Given the description of an element on the screen output the (x, y) to click on. 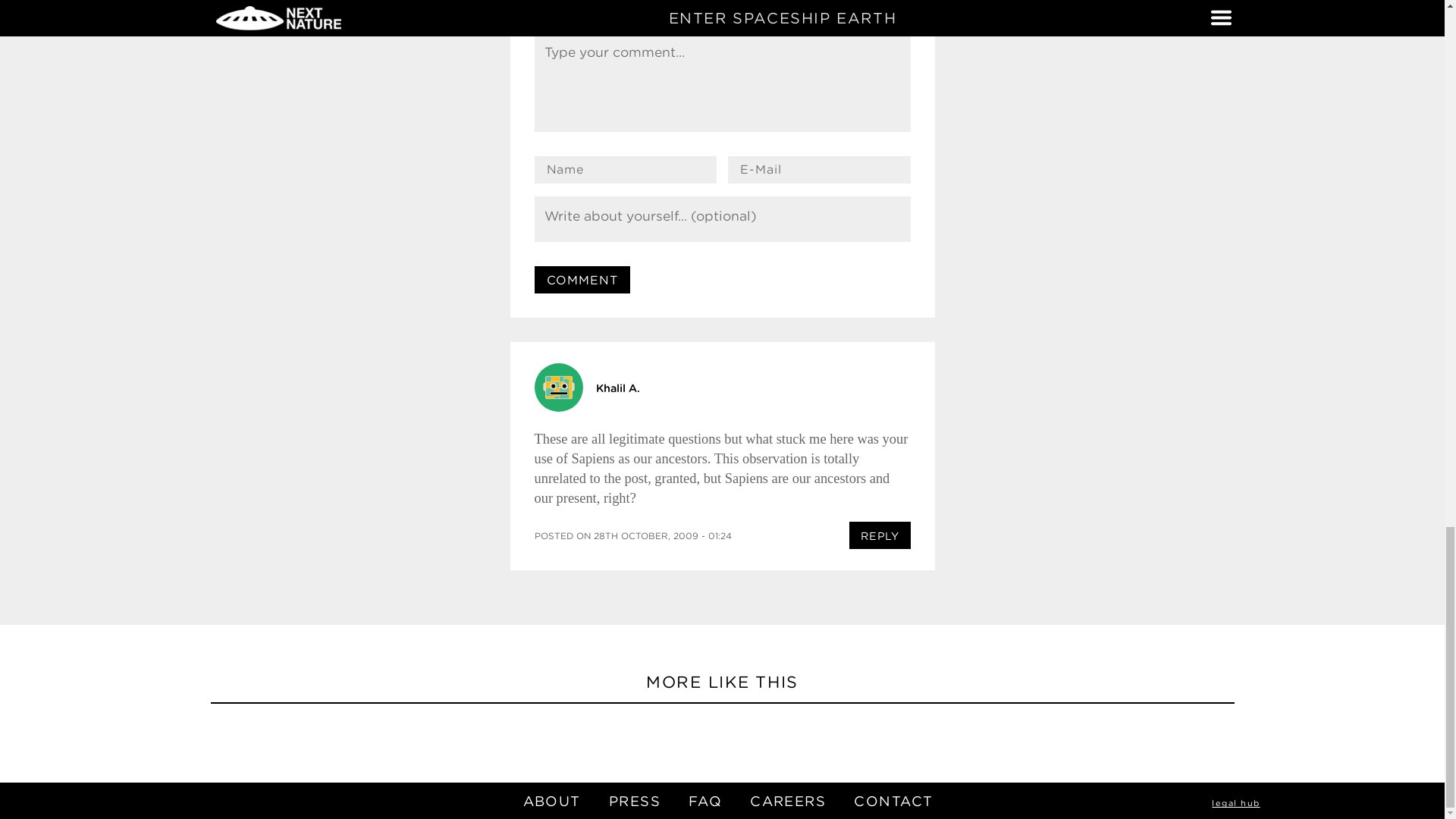
Reply (879, 534)
Reply (879, 534)
Comment (582, 279)
Comment (582, 279)
28th October, 2009 (661, 535)
Khalil A. (617, 387)
